Given the description of an element on the screen output the (x, y) to click on. 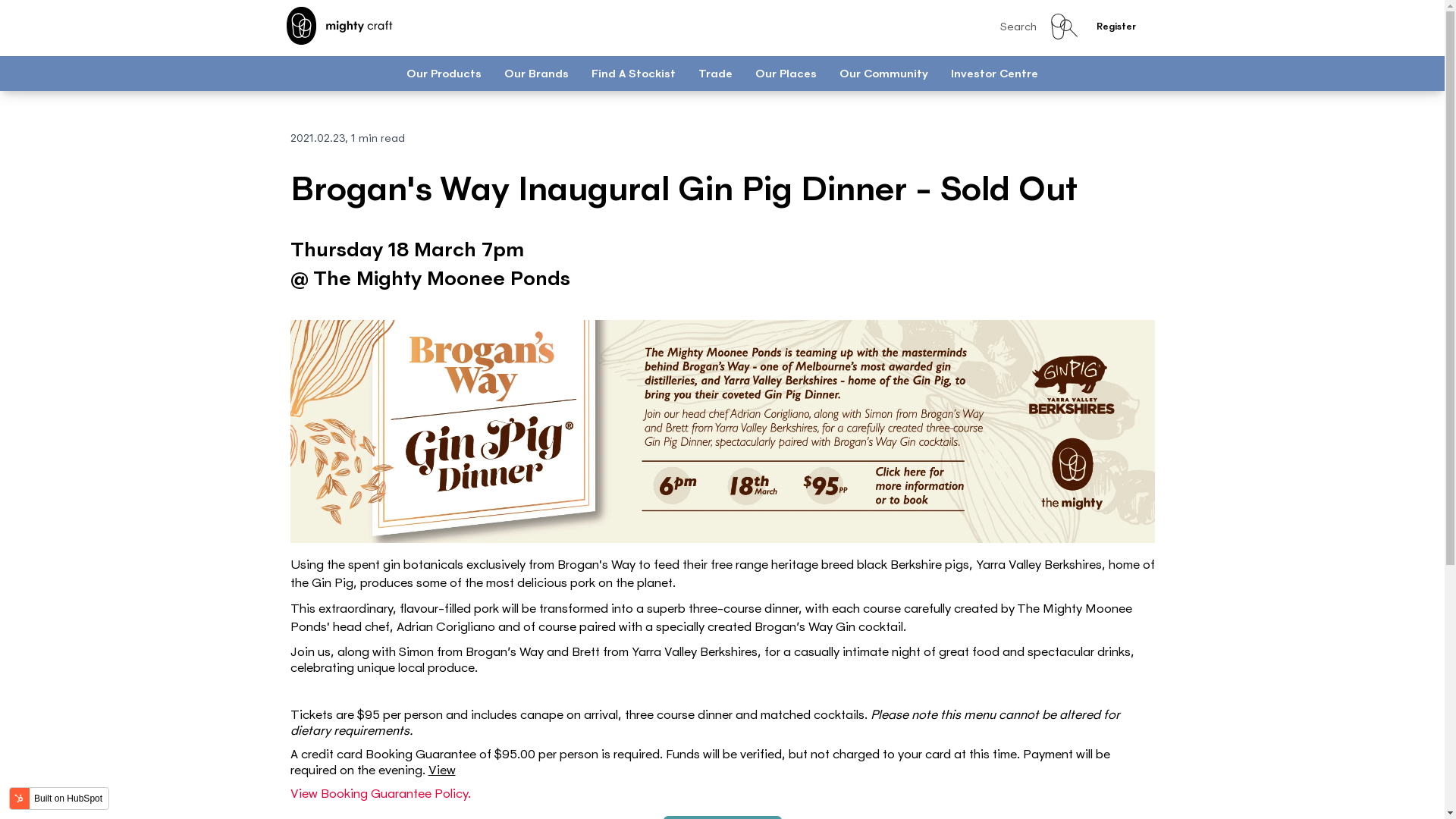
View Booking Guarantee Policy. Element type: text (379, 792)
Our Brands Element type: text (536, 72)
Our Community Element type: text (883, 72)
Register Element type: text (1115, 26)
Our Places Element type: text (785, 72)
Our Products Element type: text (443, 72)
Mighty Craft Element type: hover (339, 25)
Investor Centre Element type: text (994, 72)
Find A Stockist Element type: text (633, 72)
Trade Element type: text (715, 72)
